Given the description of an element on the screen output the (x, y) to click on. 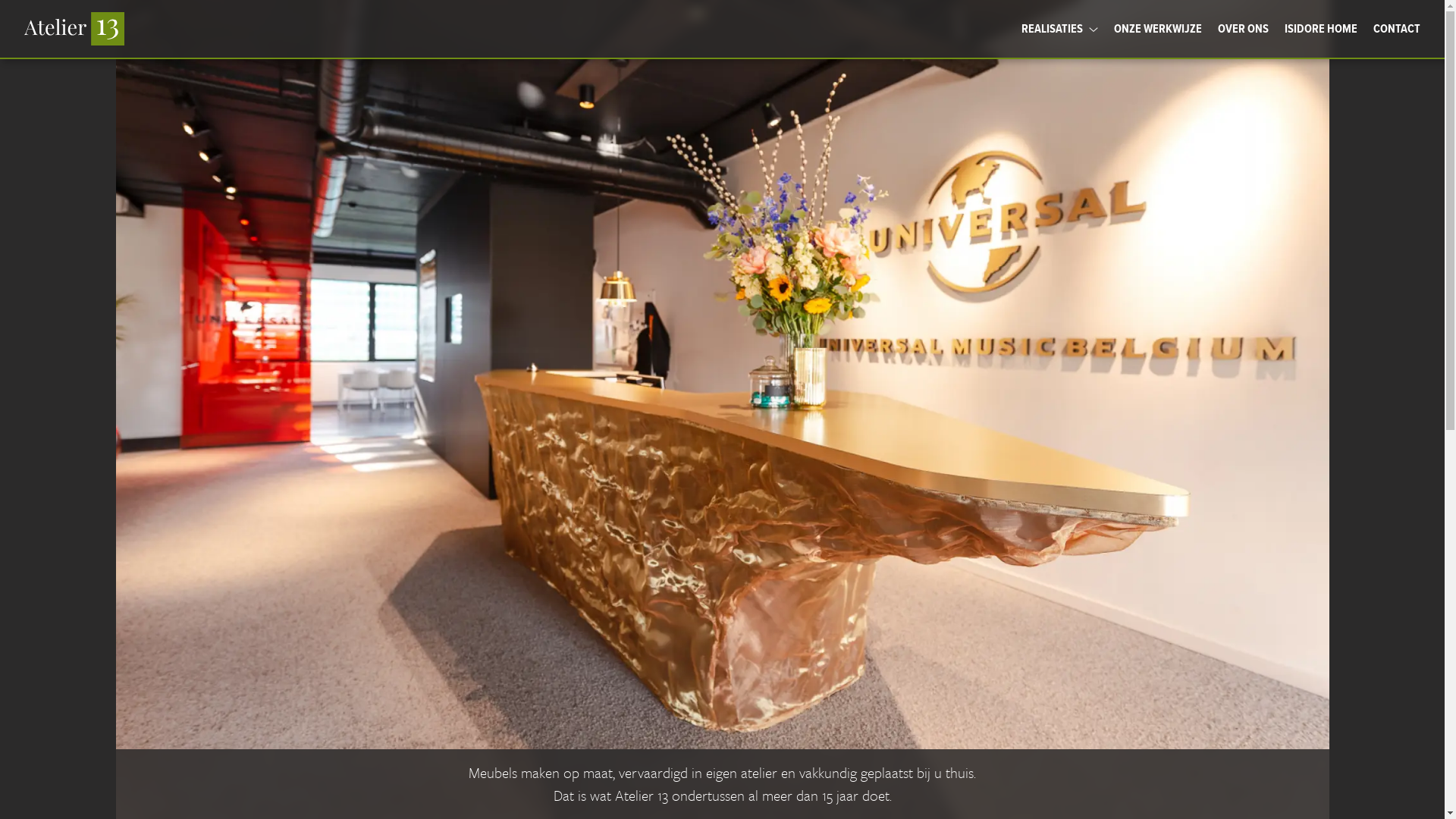
ISIDORE HOME Element type: text (1320, 28)
ONZE WERKWIJZE Element type: text (1157, 28)
REALISATIES Element type: text (1059, 28)
OVER ONS Element type: text (1242, 28)
CONTACT Element type: text (1396, 28)
